Given the description of an element on the screen output the (x, y) to click on. 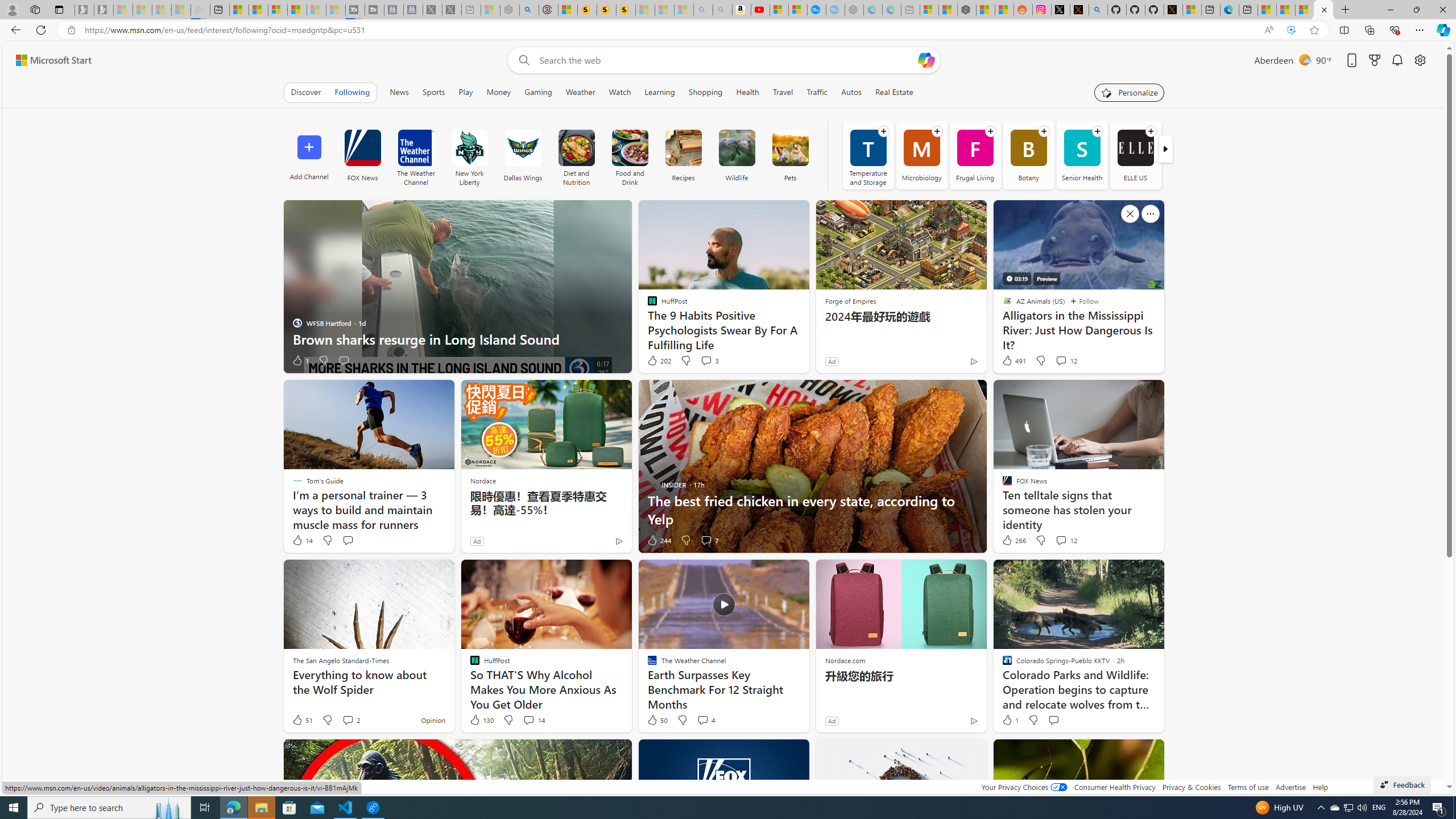
The most popular Google 'how to' searches - Sleeping (835, 9)
MSNBC - MSN (1285, 9)
Nordace.com (845, 660)
X Privacy Policy (1173, 9)
